Given the description of an element on the screen output the (x, y) to click on. 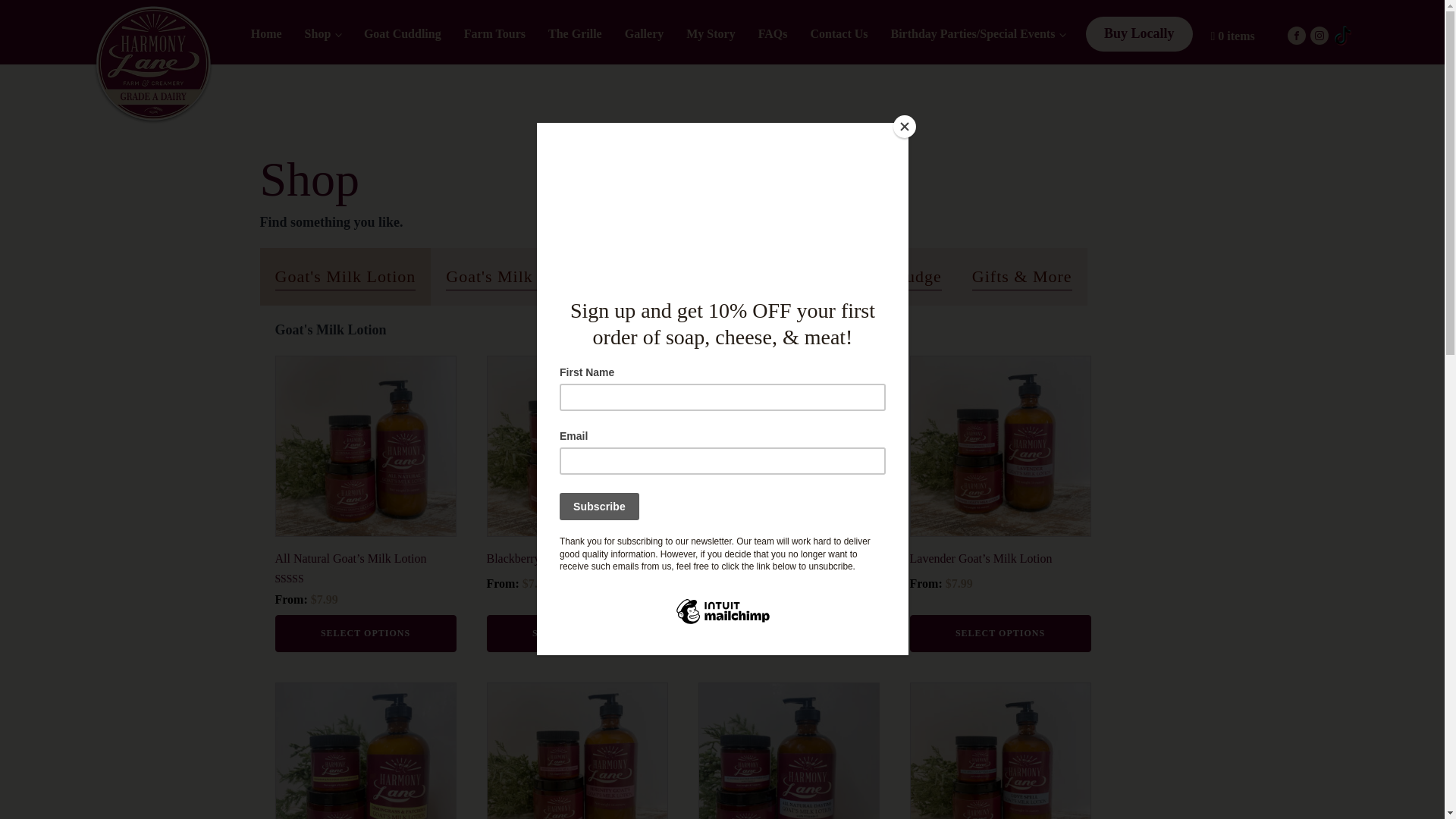
Goat Cuddling (402, 33)
0 items (1231, 35)
SELECT OPTIONS (1000, 633)
Shop (323, 33)
Farm Tours (494, 33)
Contact Us (839, 33)
Buy Locally (1139, 33)
My Story (710, 33)
Start shopping (1231, 35)
SELECT OPTIONS (365, 633)
SELECT OPTIONS (788, 633)
The Grille (574, 33)
SELECT OPTIONS (577, 633)
FAQs (772, 33)
Gallery (643, 33)
